Given the description of an element on the screen output the (x, y) to click on. 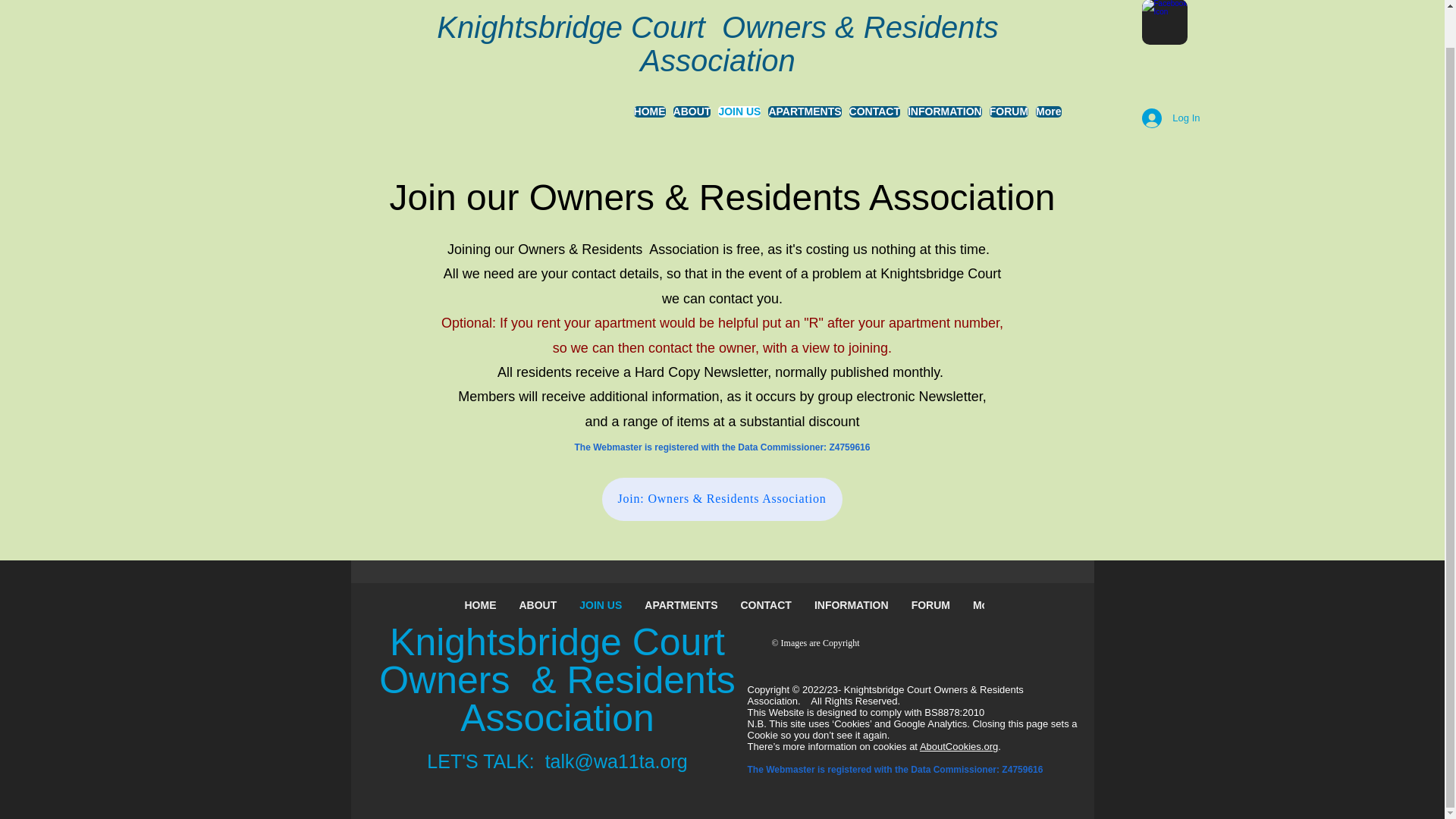
FORUM (929, 607)
JOIN US (738, 117)
JOIN US (600, 607)
HOME (480, 607)
Log In (1170, 118)
ABOUT (538, 607)
HOME (649, 117)
AboutCookies.org (958, 746)
APARTMENTS (681, 607)
APARTMENTS (804, 117)
